Given the description of an element on the screen output the (x, y) to click on. 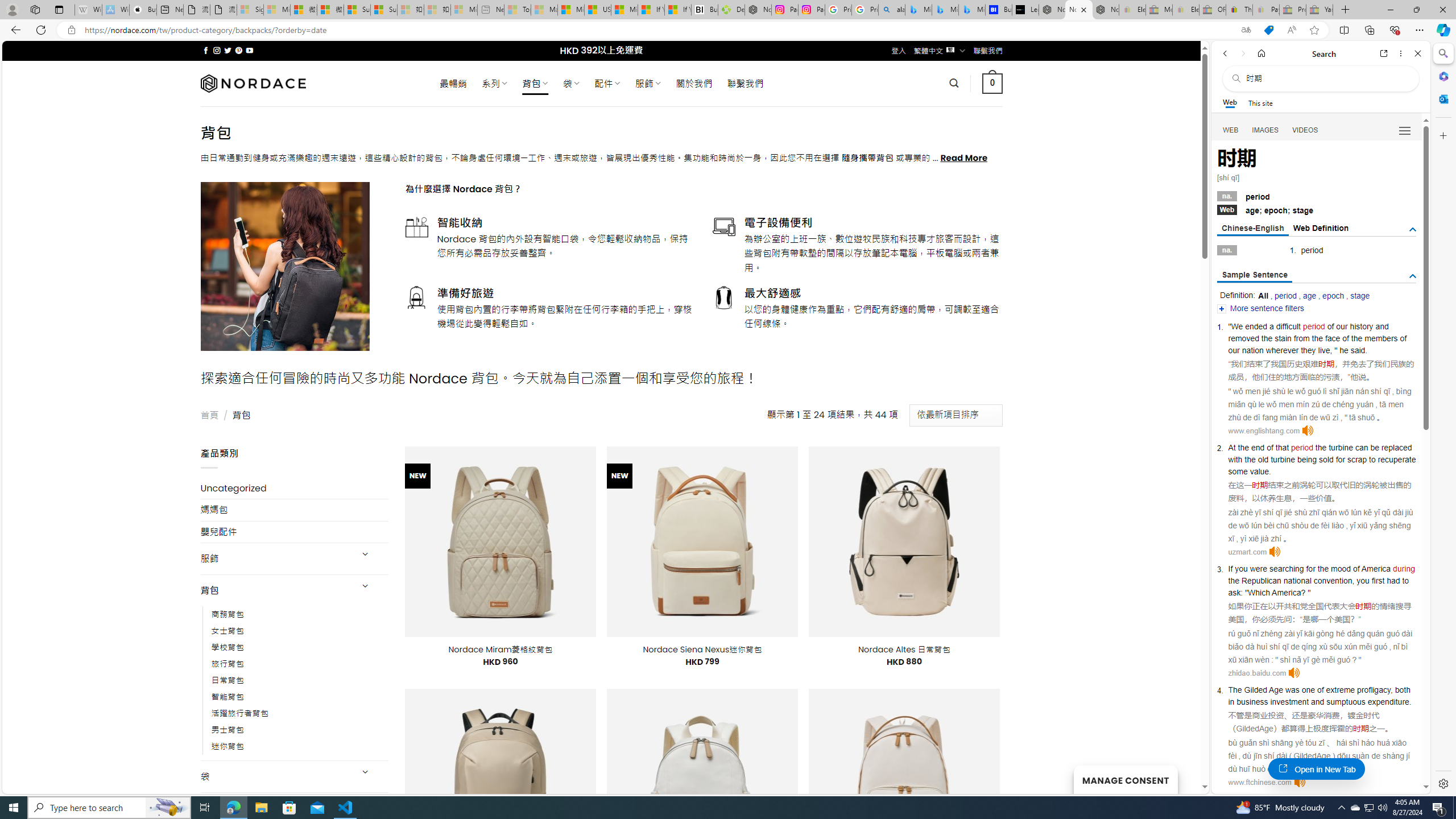
GildedAge (1255, 728)
America (1286, 592)
